Given the description of an element on the screen output the (x, y) to click on. 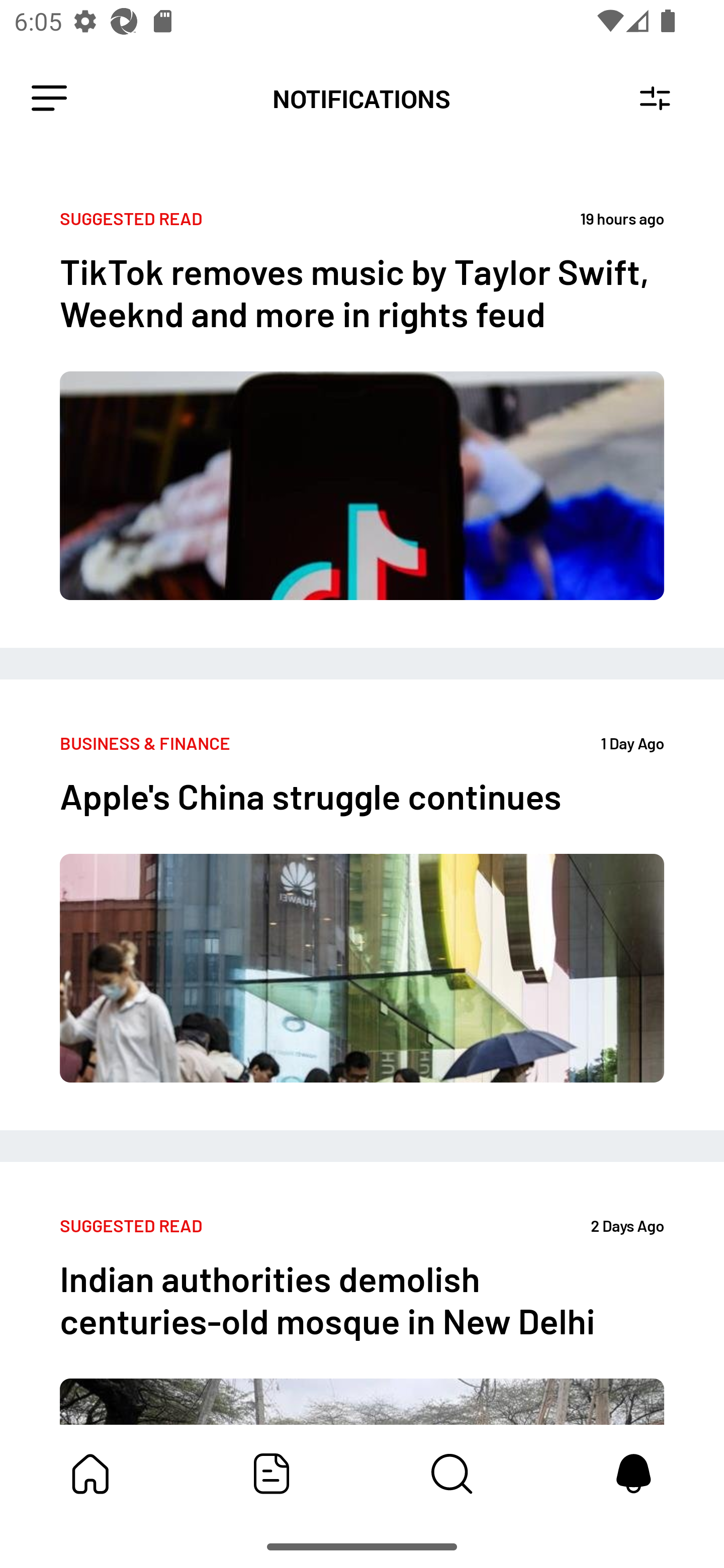
Leading Icon (49, 98)
Notification Settings (655, 98)
My Bundle (90, 1473)
Featured (271, 1473)
Content Store (452, 1473)
